Given the description of an element on the screen output the (x, y) to click on. 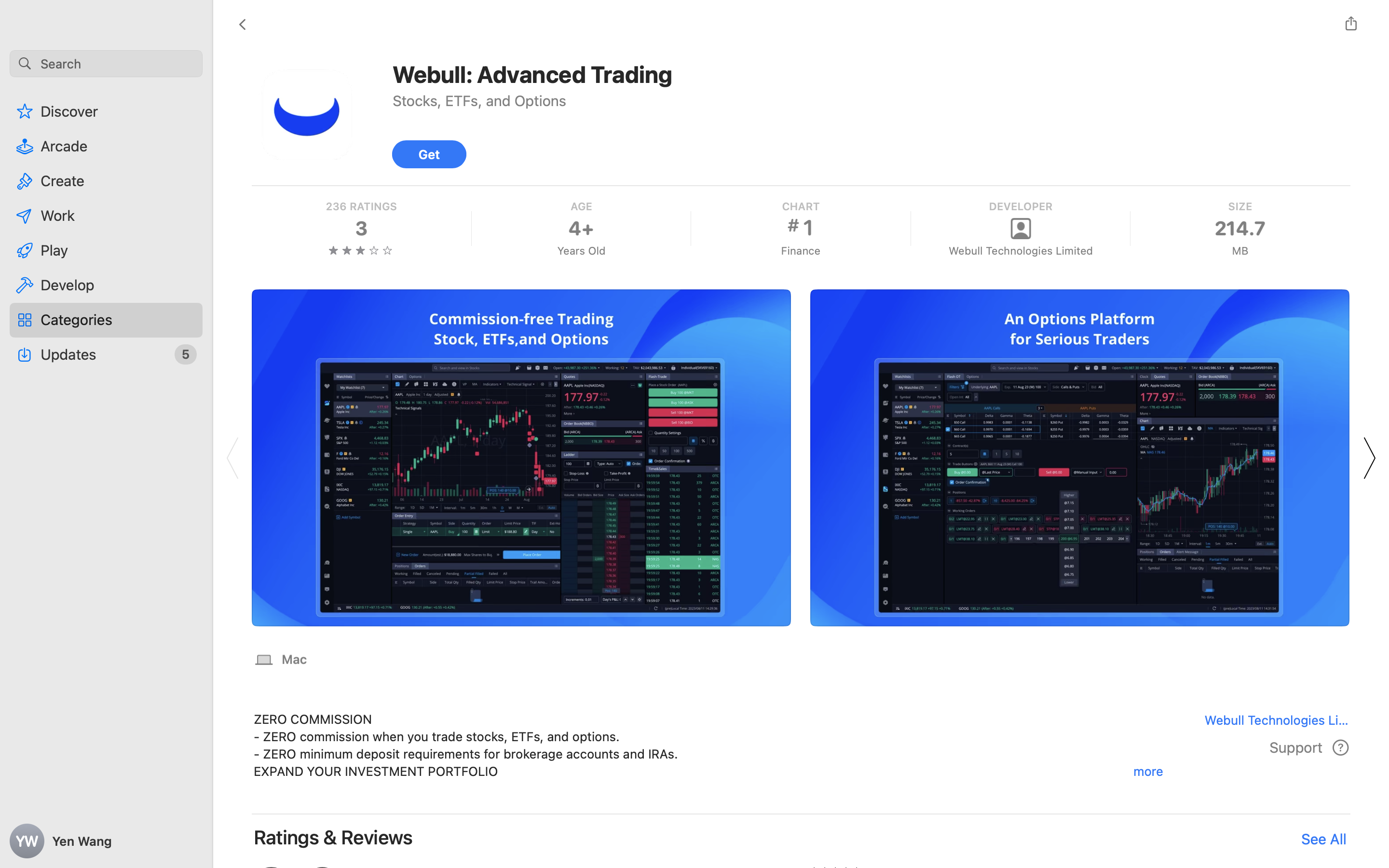
Ratings & Reviews Element type: AXStaticText (333, 836)
1 Element type: AXStaticText (800, 227)
three stars, 236 RATINGS, 3 Element type: AXStaticText (361, 228)
3 Element type: AXStaticText (361, 228)
Yen Wang Element type: AXButton (106, 840)
